Given the description of an element on the screen output the (x, y) to click on. 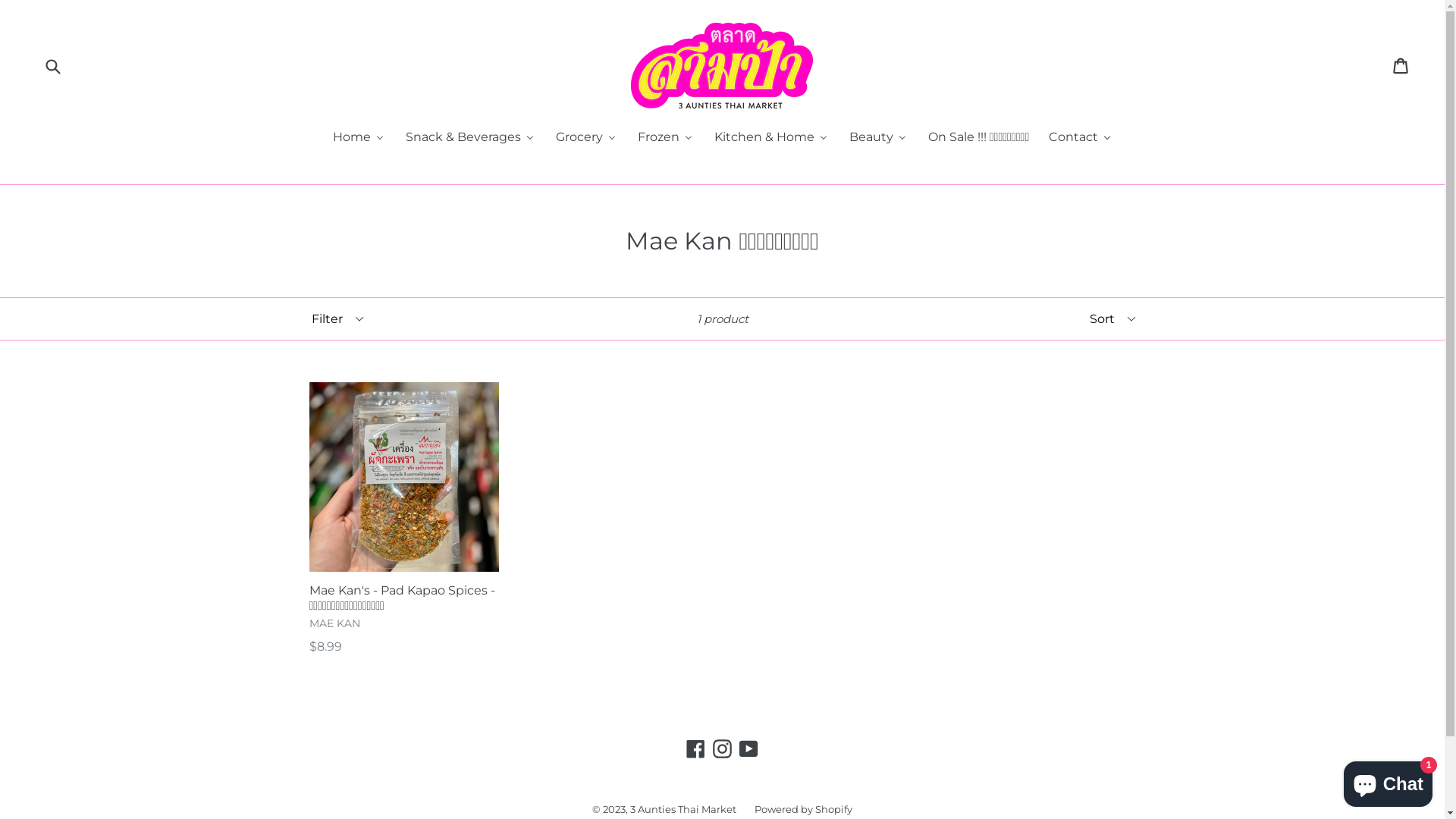
Contact Element type: text (1080, 137)
Home Element type: text (358, 137)
Frozen Element type: text (665, 137)
Submit Element type: text (51, 65)
Cart
Cart Element type: text (1401, 65)
YouTube Element type: text (748, 748)
Instagram Element type: text (722, 748)
Grocery Element type: text (586, 137)
Snack & Beverages Element type: text (470, 137)
Powered by Shopify Element type: text (803, 809)
Beauty Element type: text (877, 137)
Facebook Element type: text (695, 748)
Shopify online store chat Element type: hover (1388, 780)
Kitchen & Home Element type: text (770, 137)
3 Aunties Thai Market Element type: text (683, 809)
